Given the description of an element on the screen output the (x, y) to click on. 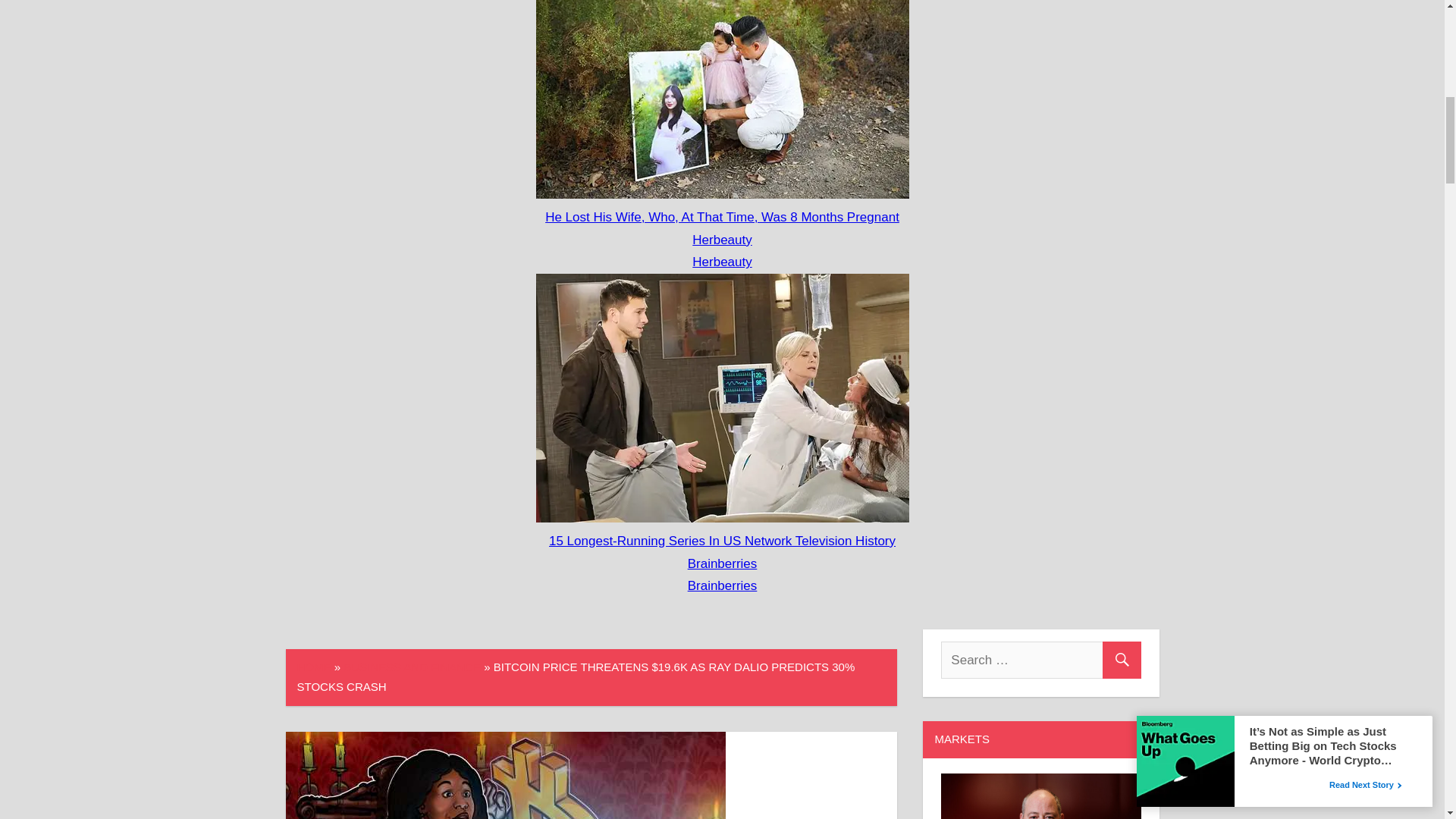
HOME (314, 666)
BUSINESS AND FINANCE (411, 666)
